Given the description of an element on the screen output the (x, y) to click on. 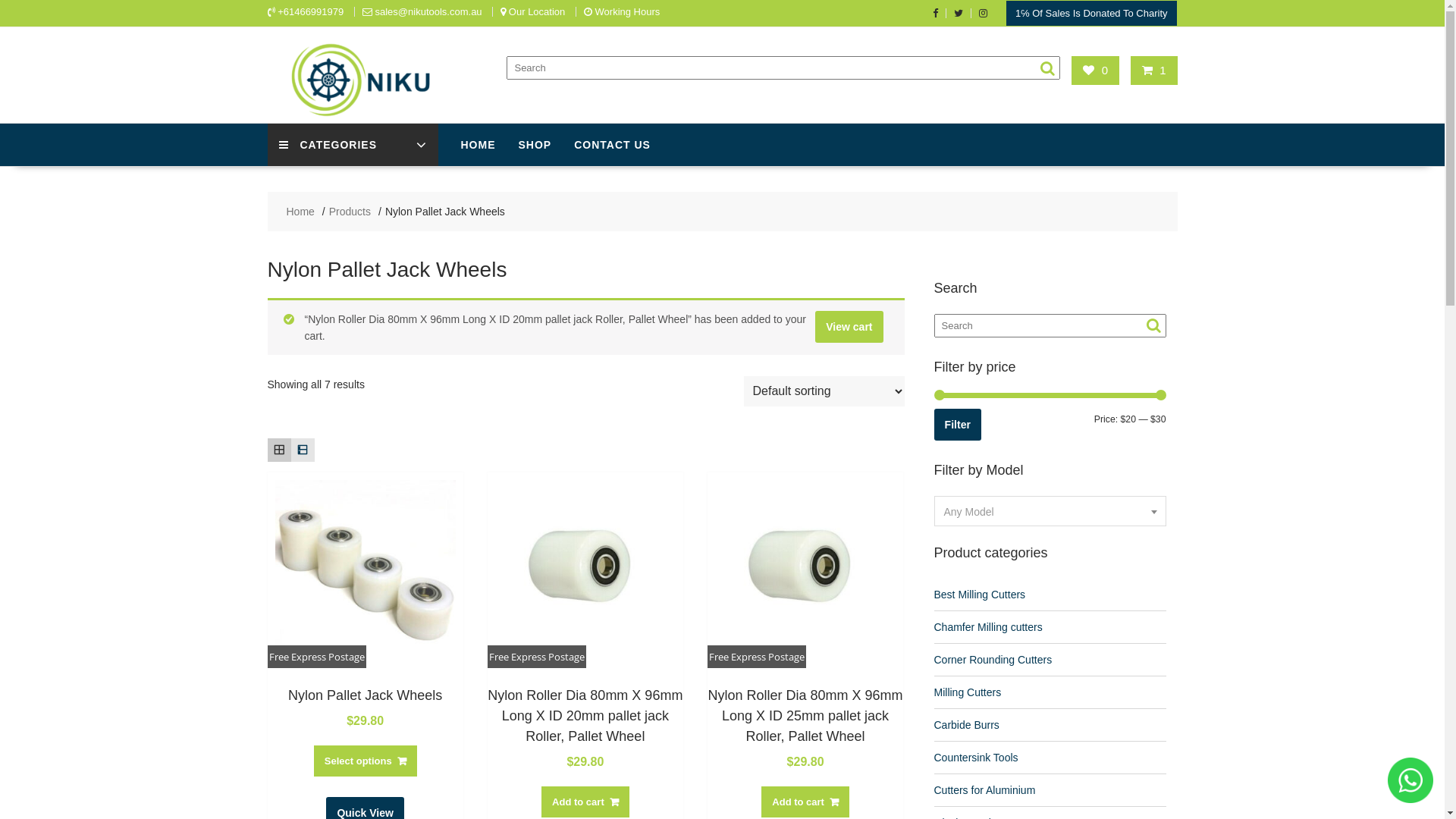
SHOP Element type: text (534, 144)
Best Milling Cutters Element type: text (980, 594)
Select options Element type: text (365, 760)
Cutters for Aluminium Element type: text (984, 790)
1 Element type: text (1154, 69)
Grid view Element type: hover (278, 449)
Corner Rounding Cutters Element type: text (993, 659)
Add to cart Element type: text (805, 801)
HOME Element type: text (477, 144)
CATEGORIES Element type: text (351, 144)
Home Element type: text (300, 211)
Milling Cutters Element type: text (967, 692)
View cart Element type: text (848, 326)
Carbide Burrs Element type: text (966, 724)
Add to cart Element type: text (585, 801)
Countersink Tools Element type: text (976, 757)
Products Element type: text (349, 211)
CONTACT US Element type: text (612, 144)
Free Express Postage
Nylon Pallet Jack Wheels
$29.80 Element type: text (364, 600)
Chamfer Milling cutters Element type: text (988, 627)
List view Element type: hover (302, 449)
Filter Element type: text (958, 424)
0 Element type: text (1094, 69)
